Given the description of an element on the screen output the (x, y) to click on. 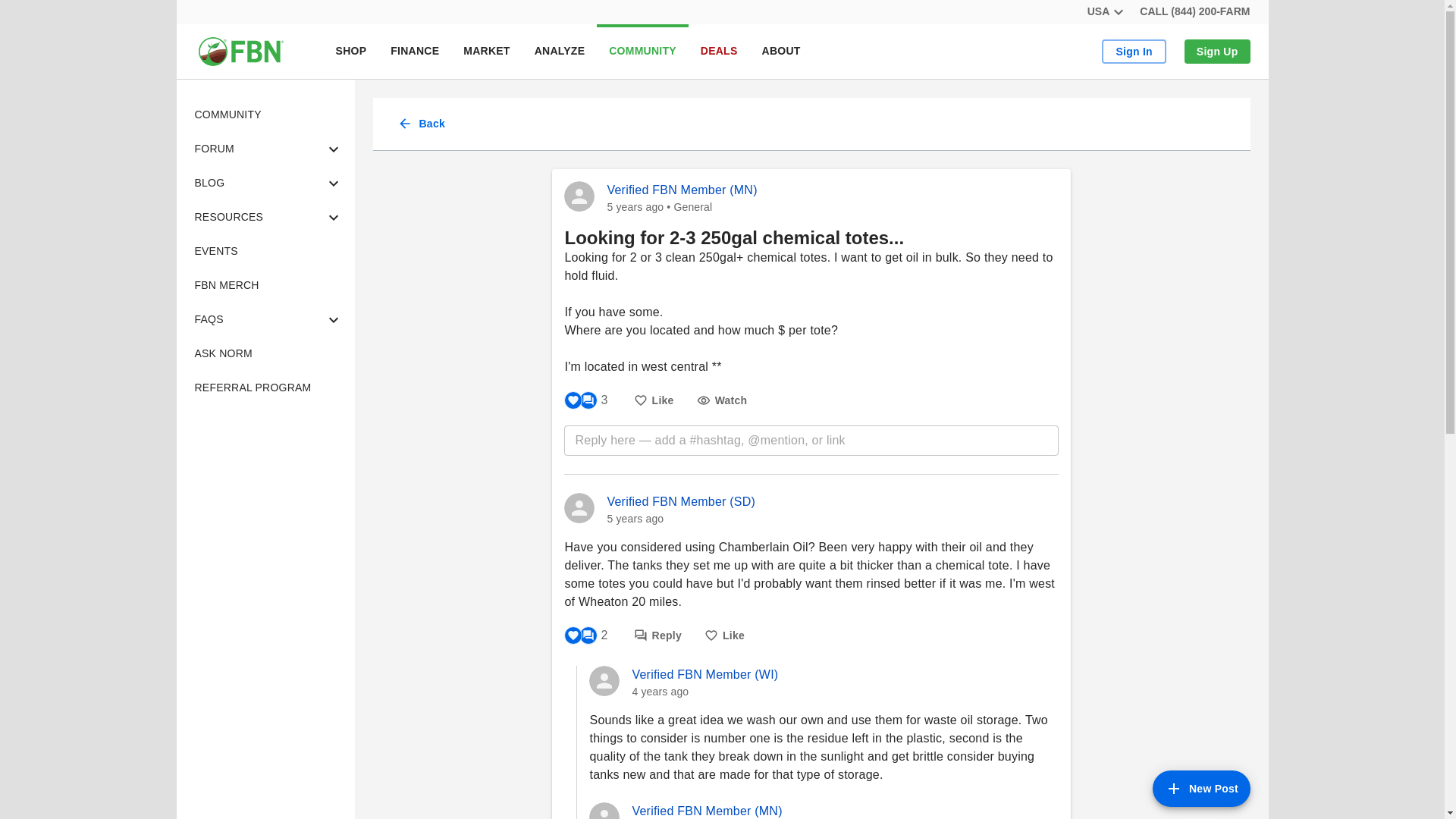
COMMUNITY (642, 51)
USA (1104, 12)
ANALYZE (559, 51)
Sign In (1134, 51)
FINANCE (414, 51)
DEALS (718, 51)
2020-01-16 14:29 (635, 205)
Farmer's Business Network's main logo (239, 51)
Sign Up (1217, 51)
2020-01-17 00:35 (635, 518)
ABOUT (685, 51)
SHOP (780, 51)
COMMUNITY (350, 51)
2020-01-26 13:13 (265, 114)
